Given the description of an element on the screen output the (x, y) to click on. 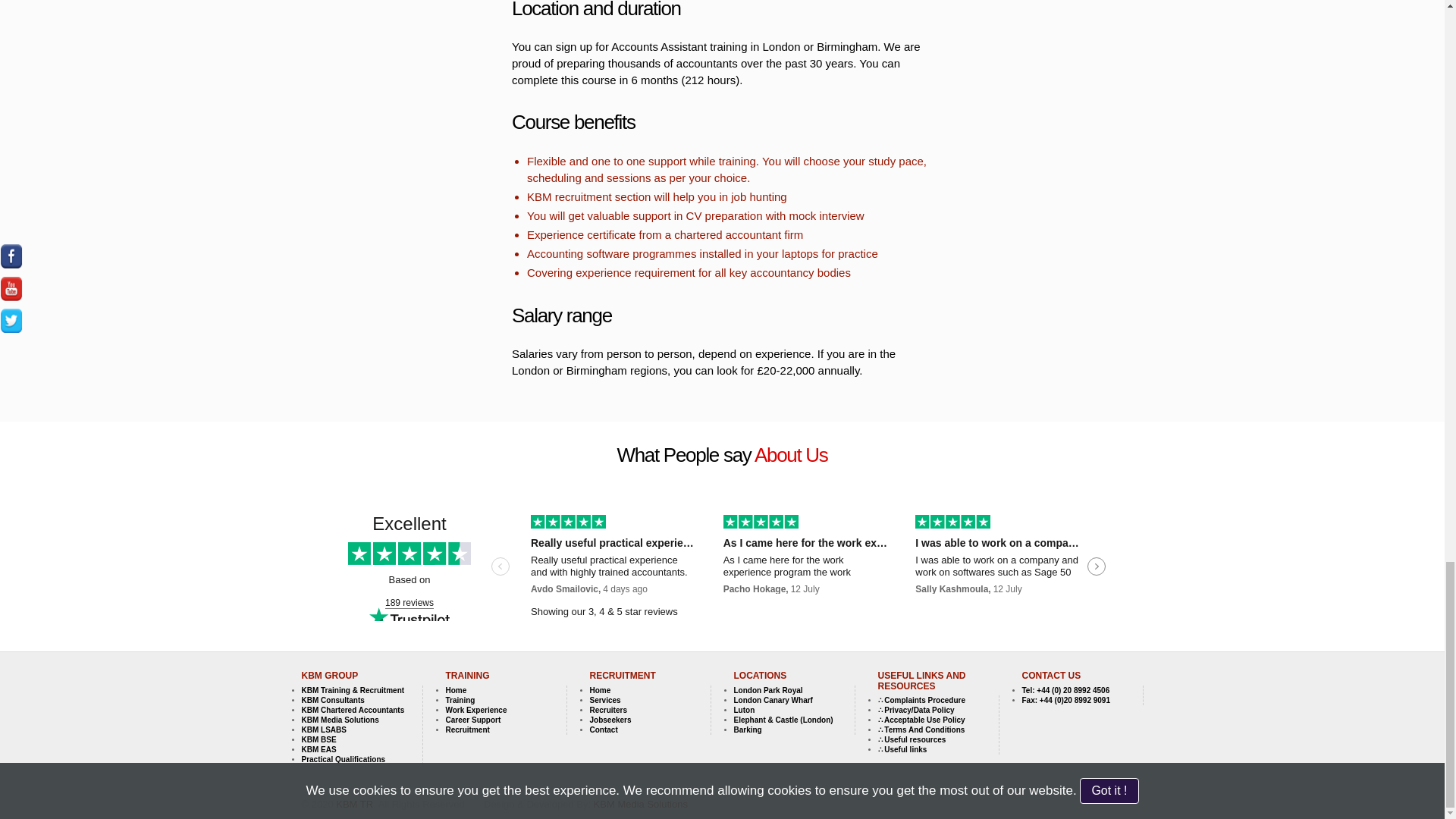
Customer reviews powered by Trustpilot (722, 567)
